Given the description of an element on the screen output the (x, y) to click on. 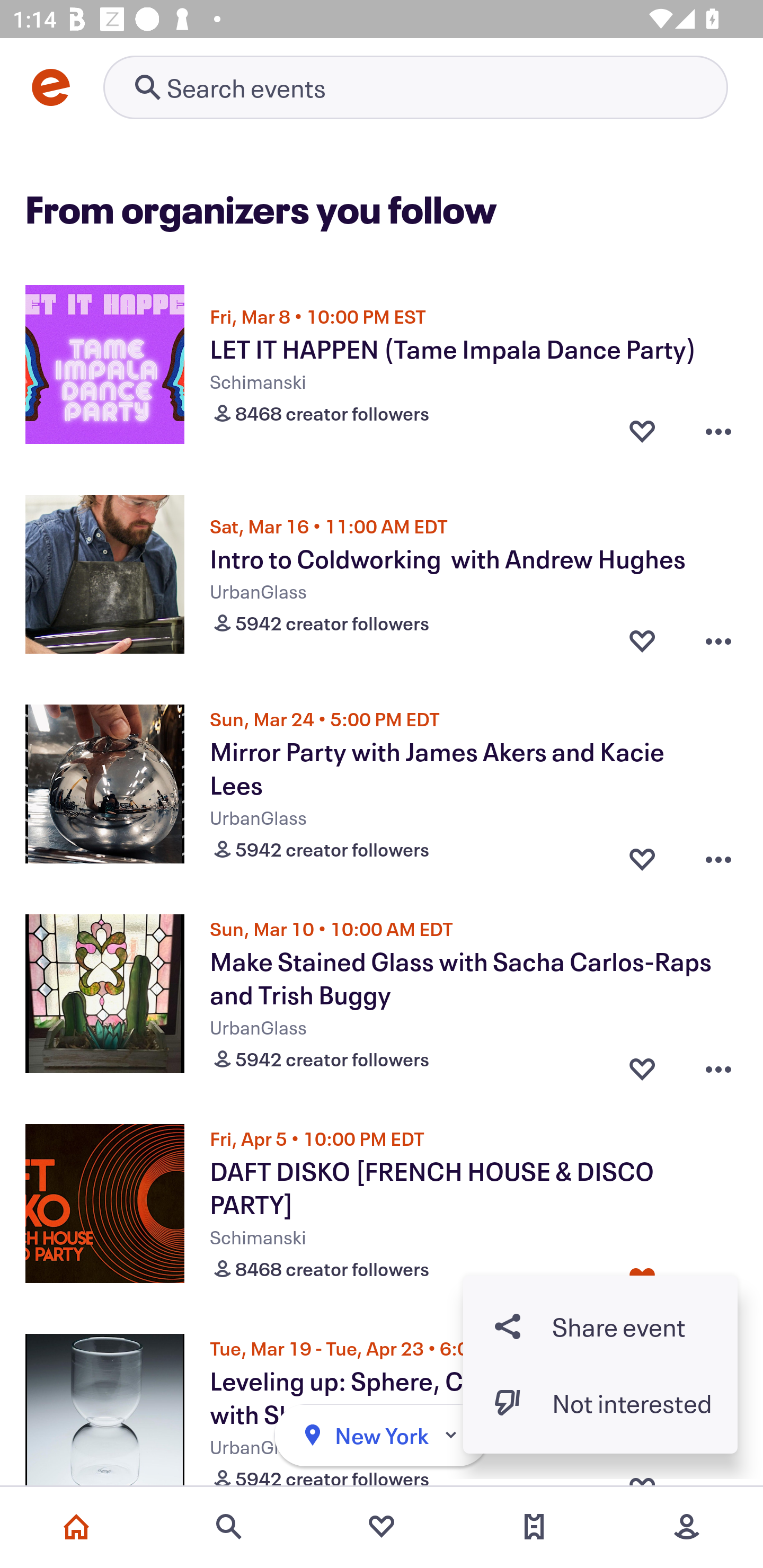
Share button Share event (600, 1326)
Dislike event button Not interested (600, 1402)
